Given the description of an element on the screen output the (x, y) to click on. 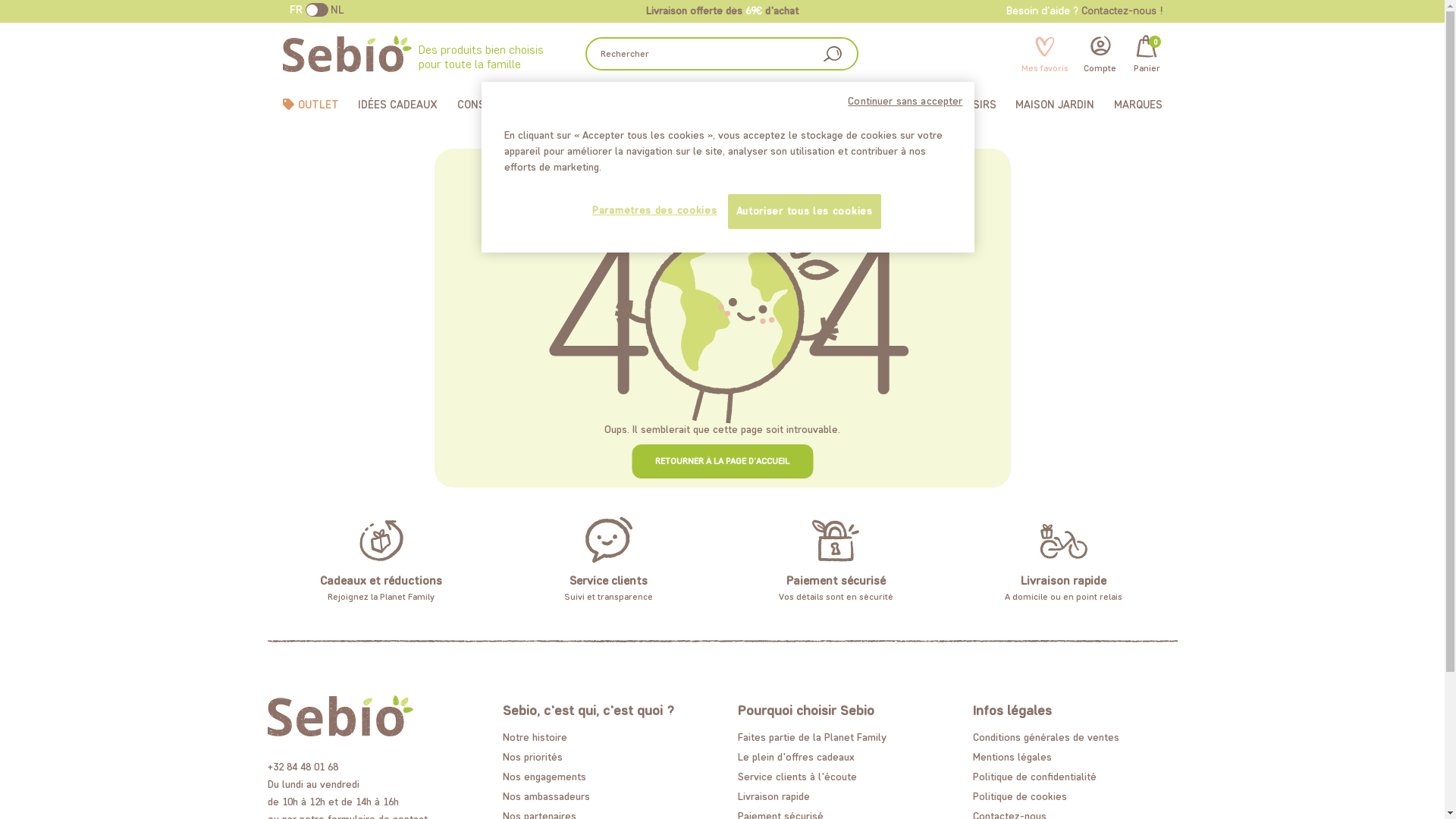
CONSOMMER AUTREMENT Element type: text (521, 105)
OUTLET Element type: text (310, 105)
MARQUES Element type: text (1137, 105)
Notre histoire Element type: text (534, 737)
Politique de cookies Element type: text (1019, 796)
Livraison rapide Element type: text (1063, 580)
Continuer sans accepter Element type: text (904, 101)
Panier
0 Element type: text (1146, 53)
Mes favoris Element type: text (1044, 53)
Nos ambassadeurs Element type: text (545, 796)
Nos engagements Element type: text (543, 776)
MAISON JARDIN Element type: text (1054, 105)
Autoriser tous les cookies Element type: text (804, 211)
Sebio Element type: hover (350, 53)
Le plein d'offres cadeaux Element type: text (795, 756)
Compte Element type: text (1099, 53)
JEUX LOISIRS Element type: text (962, 105)
Livraison rapide Element type: text (773, 796)
Faites partie de la Planet Family Element type: text (811, 737)
Service clients Element type: text (608, 580)
Contactez-nous ! Element type: text (1121, 10)
